Given the description of an element on the screen output the (x, y) to click on. 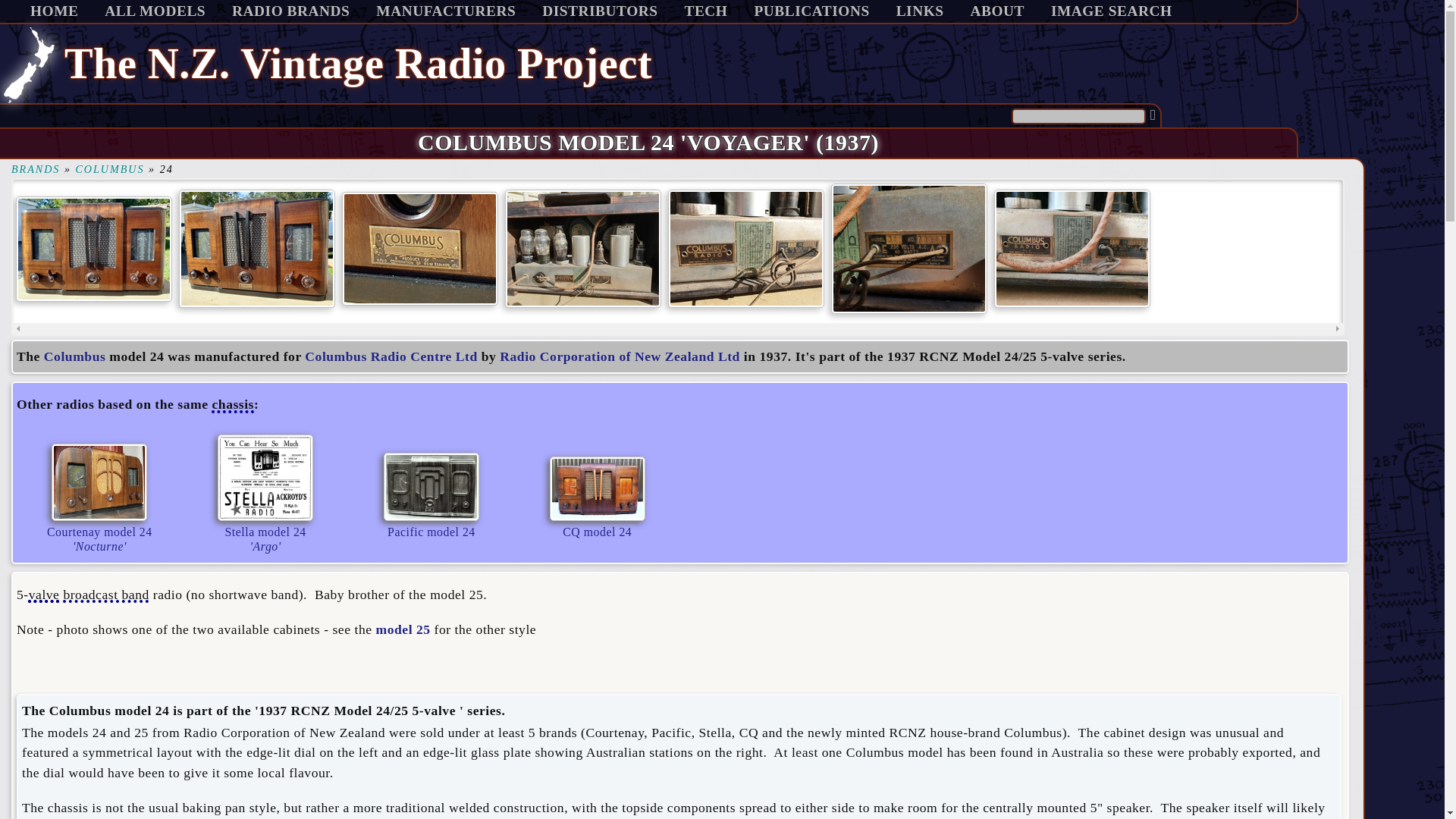
COLUMBUS (109, 168)
RADIO BRANDS (99, 496)
Columbus model 24 (290, 10)
BRANDS (910, 246)
Columbus model 24 (35, 168)
HOME (747, 246)
The N.Z. Vintage Radio Project (54, 10)
ABOUT (681, 63)
